Given the description of an element on the screen output the (x, y) to click on. 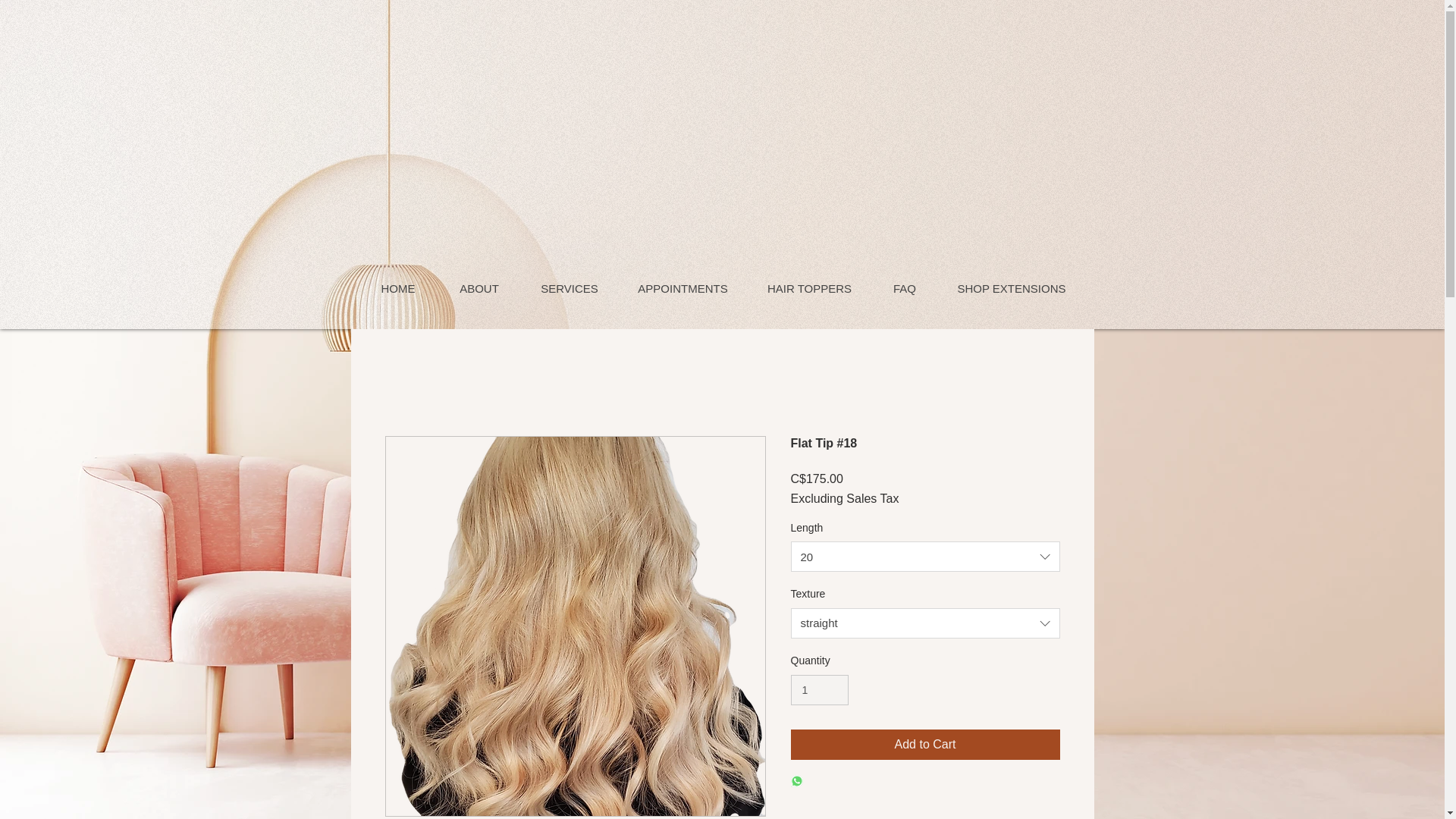
straight (924, 623)
APPOINTMENTS (681, 288)
FAQ (903, 288)
HAIR TOPPERS (809, 288)
SHOP EXTENSIONS (1010, 288)
HOME (398, 288)
1 (818, 689)
SERVICES (568, 288)
20 (924, 556)
ABOUT (477, 288)
Add to Cart (924, 744)
